Given the description of an element on the screen output the (x, y) to click on. 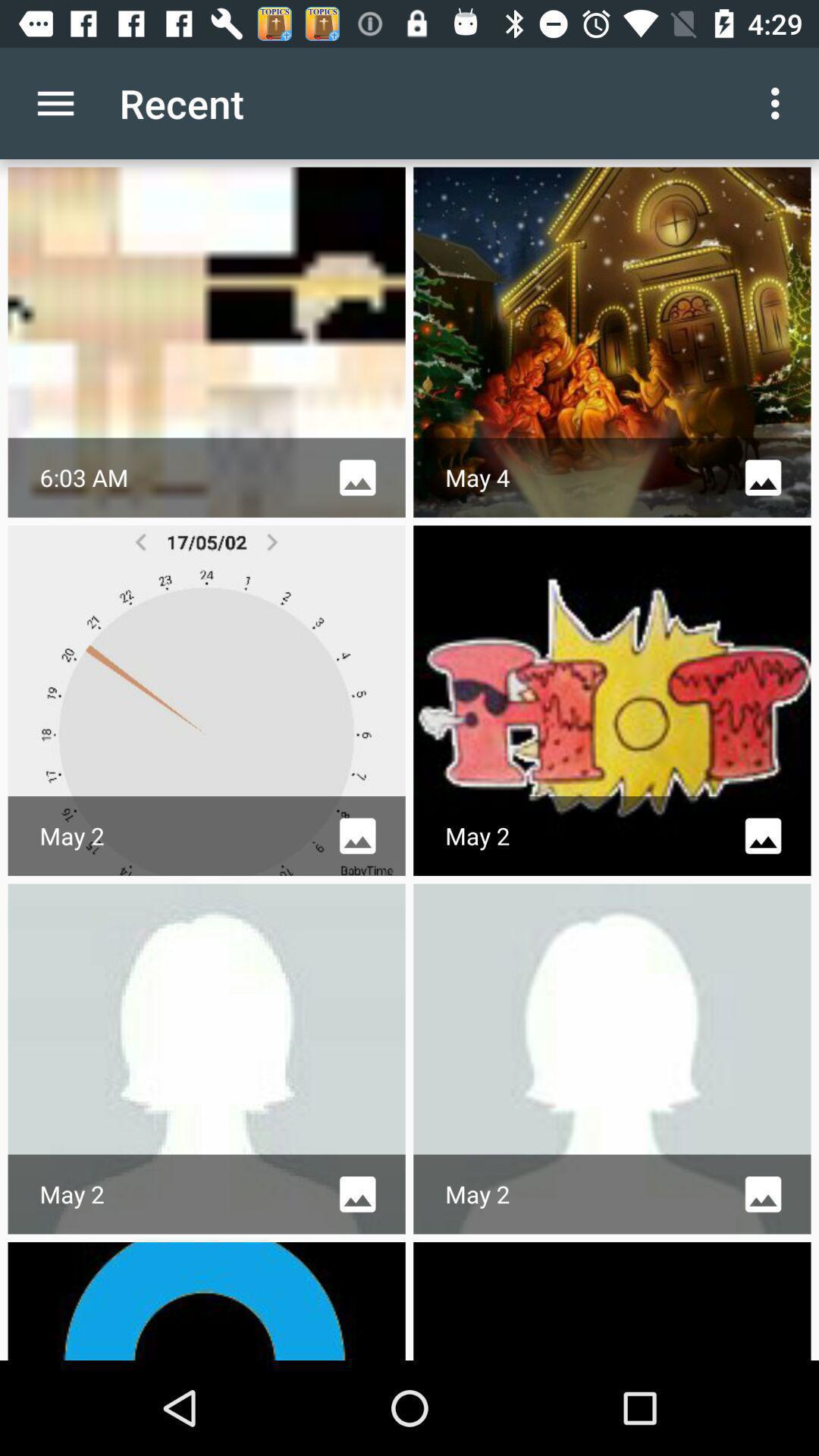
click on sixth image from top which is in the third row and second column (612, 1058)
click on the first image below the text recent (206, 342)
go to first option in second row (206, 700)
select the third row first image (206, 1058)
select the second image icon in second row (763, 836)
go to fourth row second option (612, 1300)
click on the image icon of third row 1st image (357, 1194)
